Given the description of an element on the screen output the (x, y) to click on. 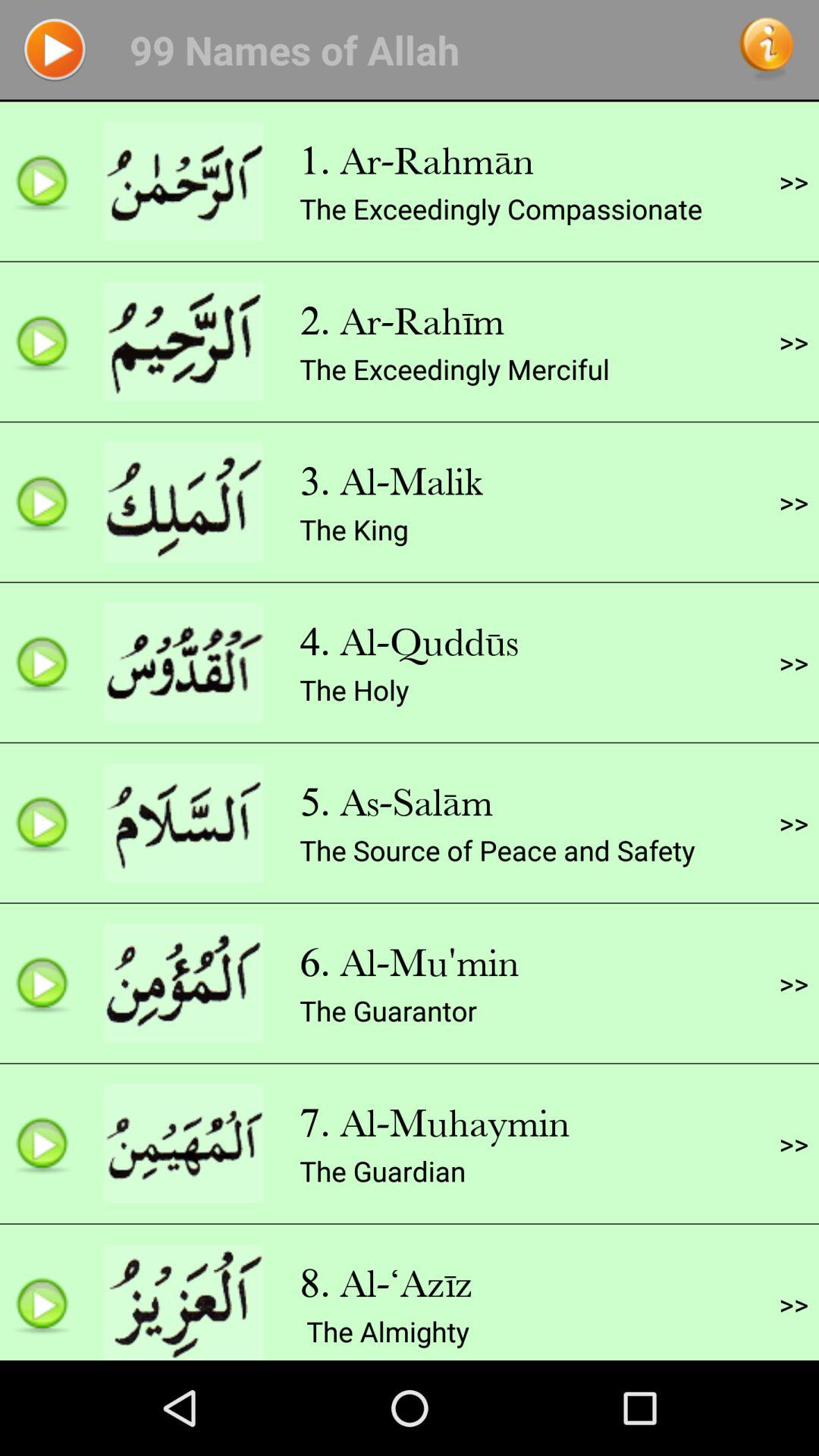
swipe until the holy icon (353, 689)
